Given the description of an element on the screen output the (x, y) to click on. 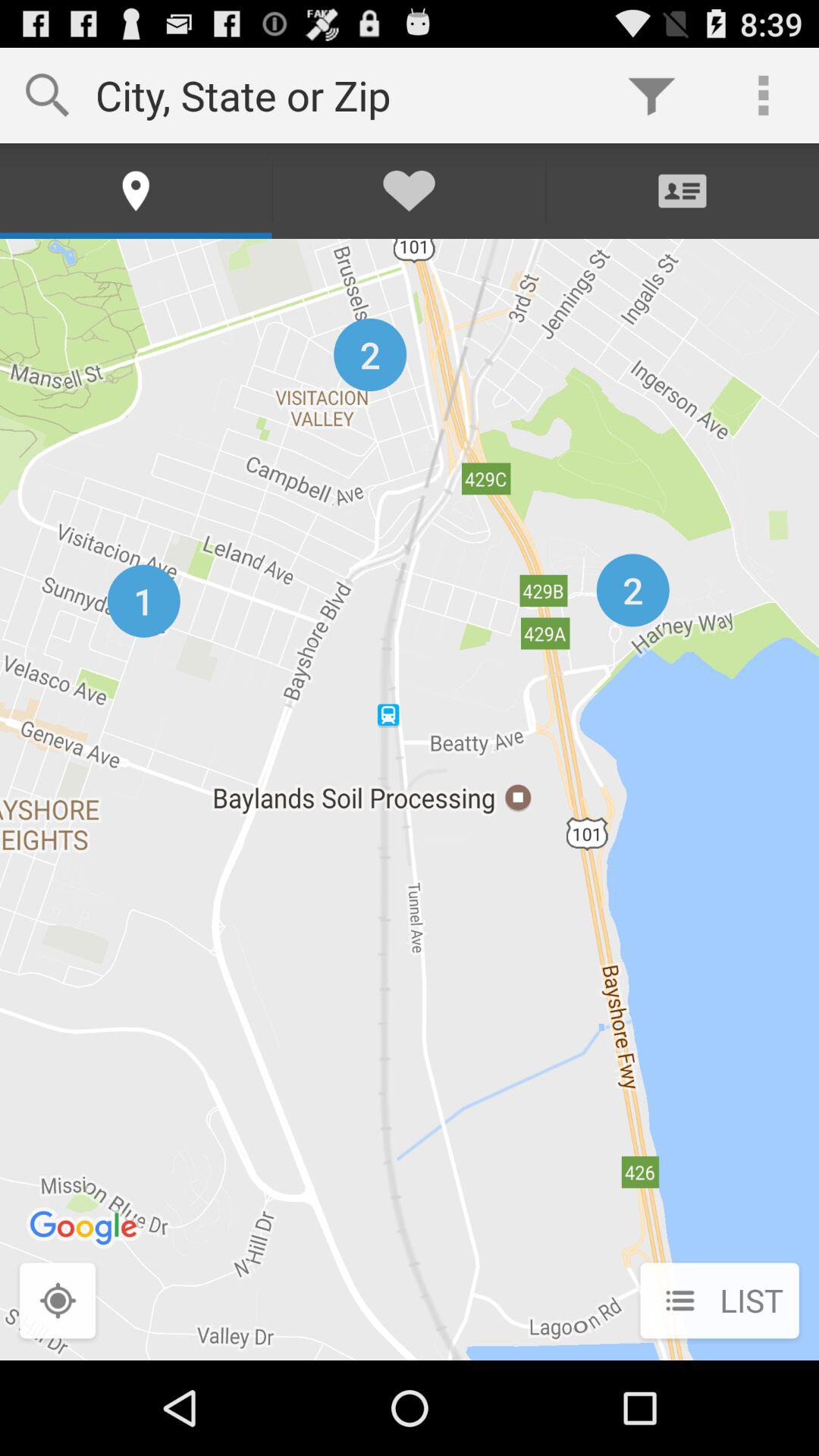
press the button next to list item (57, 1302)
